Given the description of an element on the screen output the (x, y) to click on. 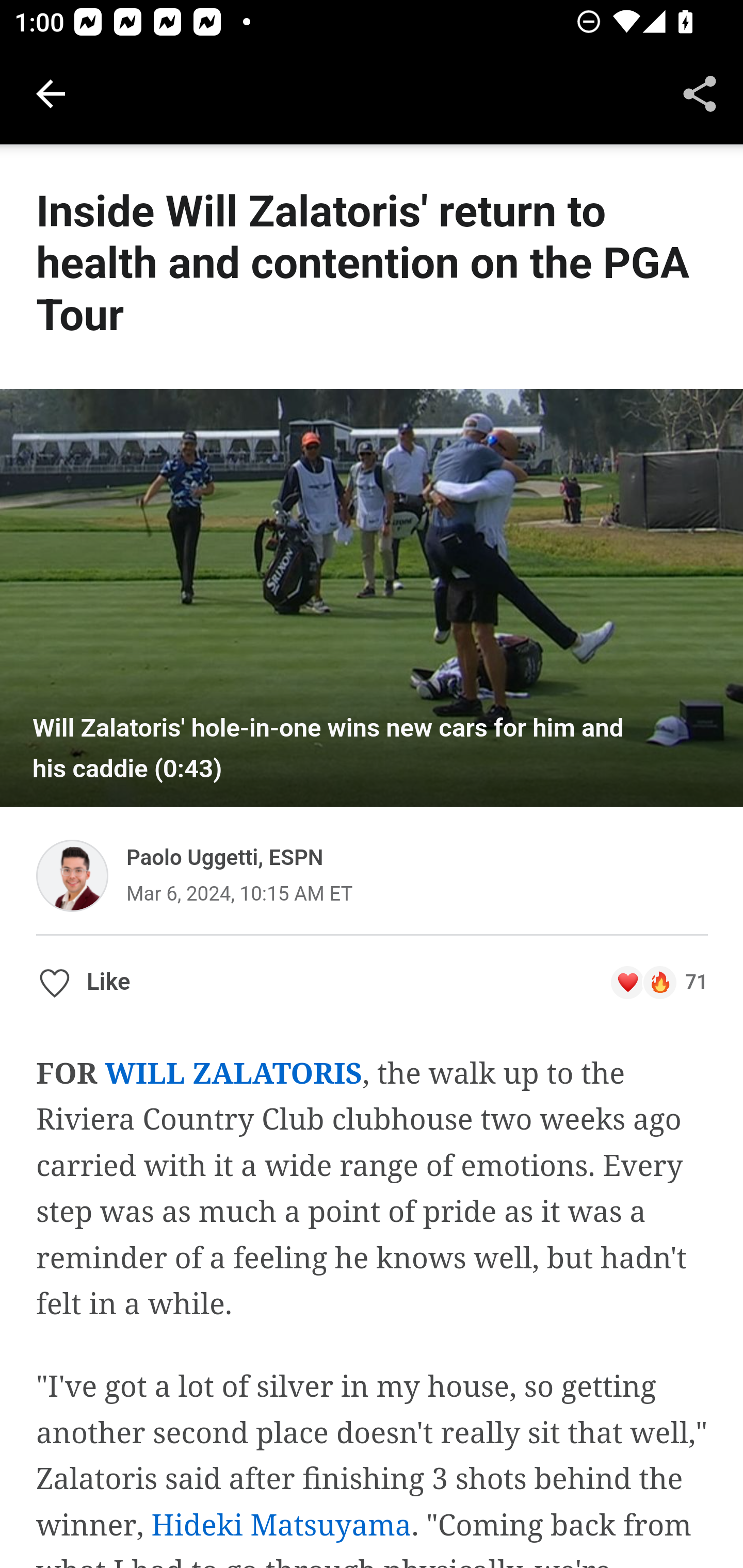
Navigate up (50, 93)
Share (699, 93)
